Given the description of an element on the screen output the (x, y) to click on. 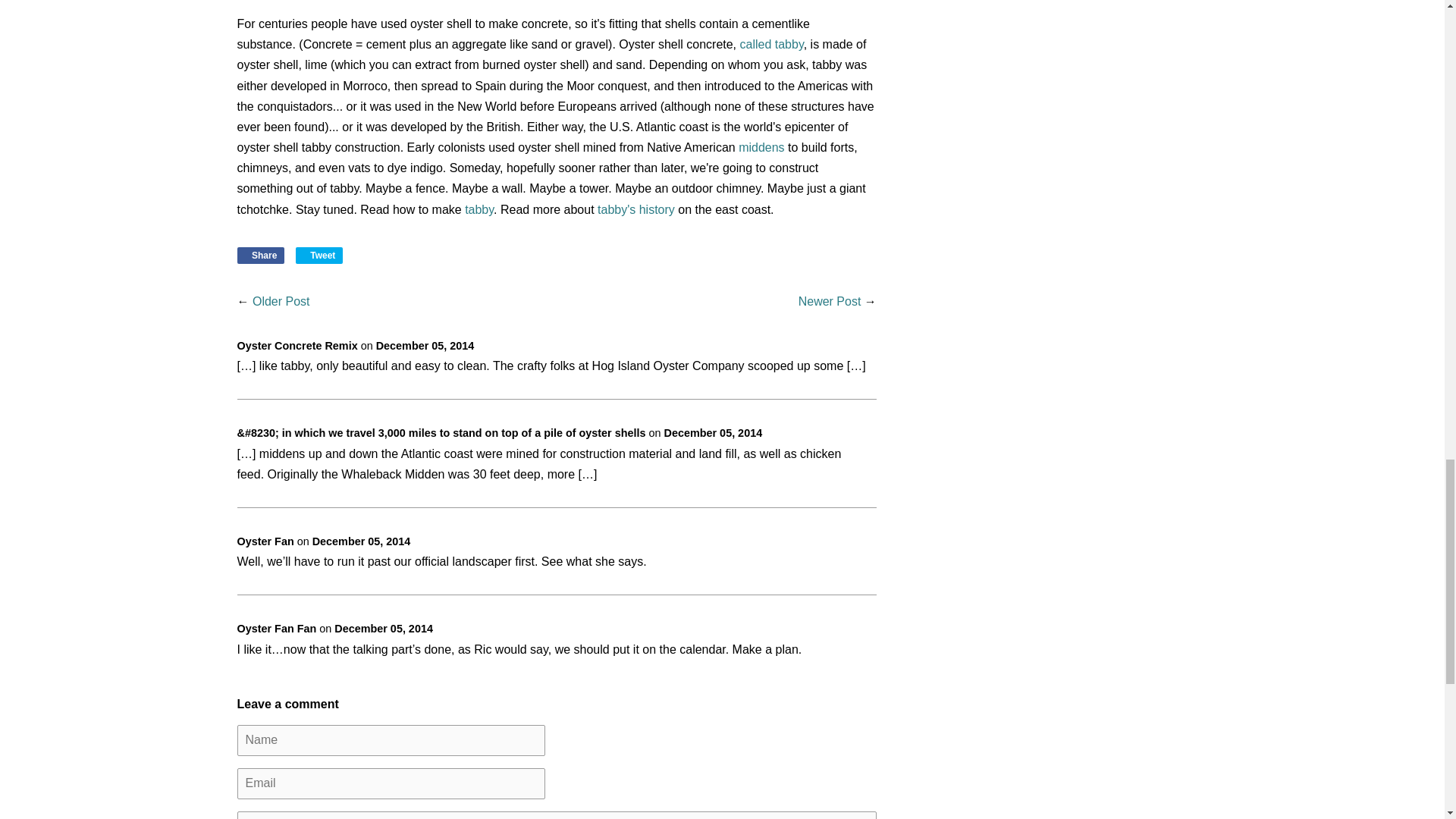
Share on Facebook (259, 255)
Tweet on Twitter (319, 255)
